Given the description of an element on the screen output the (x, y) to click on. 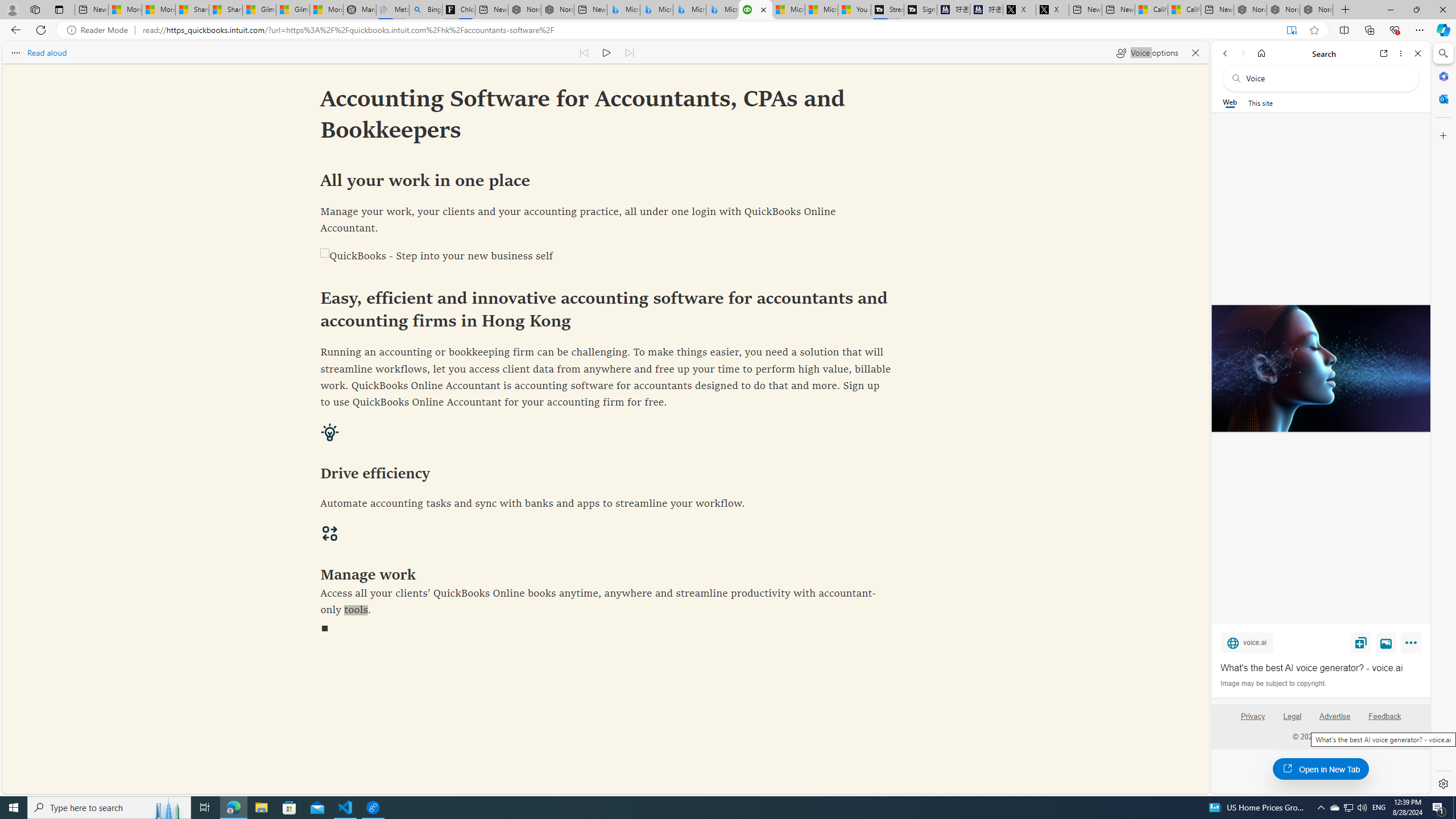
Web scope (1230, 102)
Microsoft Bing Travel - Stays in Bangkok, Bangkok, Thailand (656, 9)
Side bar (1443, 418)
Read previous paragraph (583, 52)
QuickBooks - Step into your new business self (605, 256)
Search the web (1326, 78)
